Given the description of an element on the screen output the (x, y) to click on. 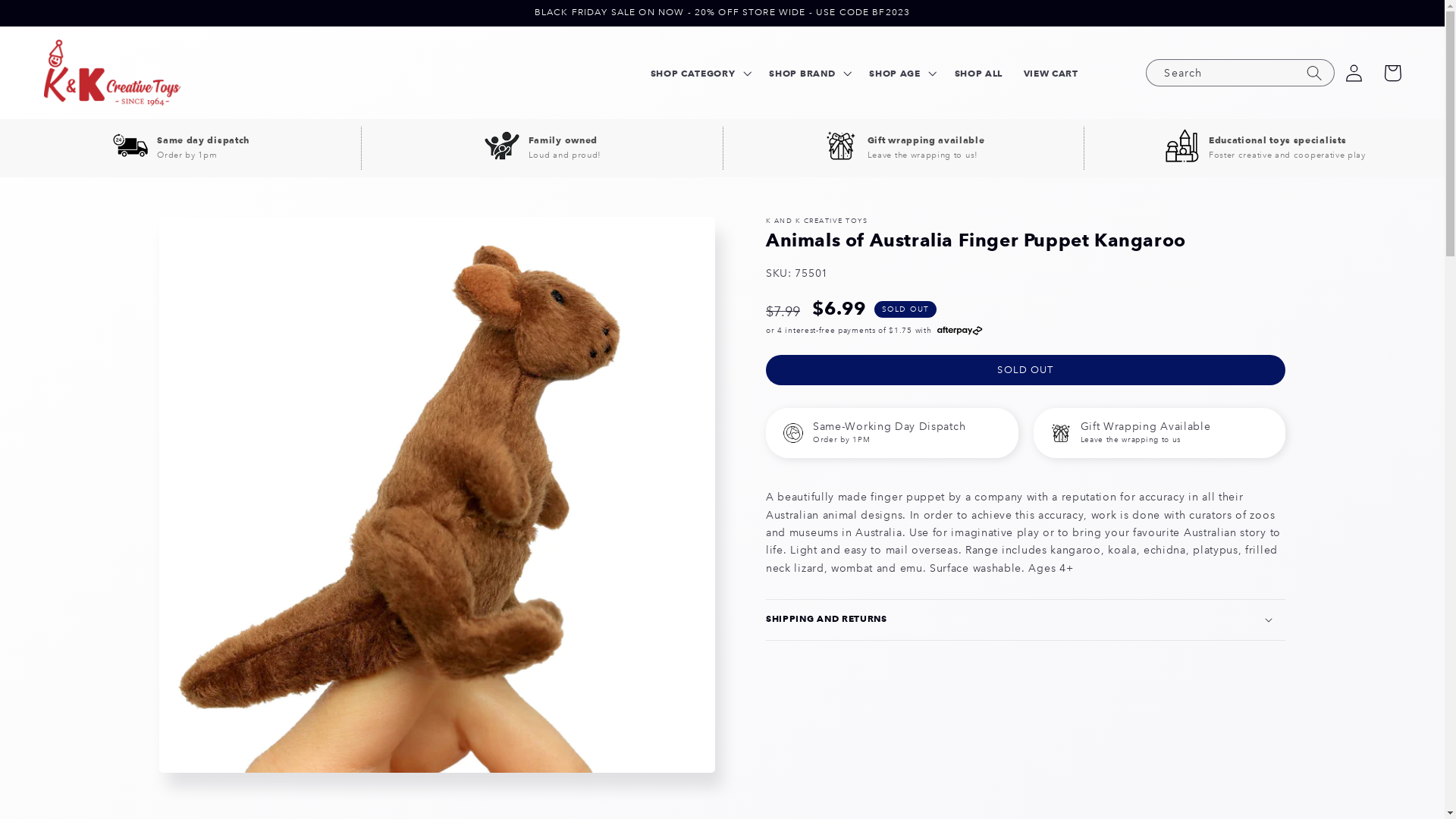
SKIP TO PRODUCT INFORMATION Element type: text (211, 239)
Log in Element type: text (1353, 72)
SHOP ALL Element type: text (978, 72)
SOLD OUT Element type: text (1025, 369)
Gift wrapping available
Leave the wrapping to us! Element type: text (903, 147)
Family owned
Loud and proud! Element type: text (542, 147)
Same day dispatch
Order by 1pm Element type: text (180, 147)
VIEW CART Element type: text (1050, 72)
Cart Element type: text (1392, 72)
